Given the description of an element on the screen output the (x, y) to click on. 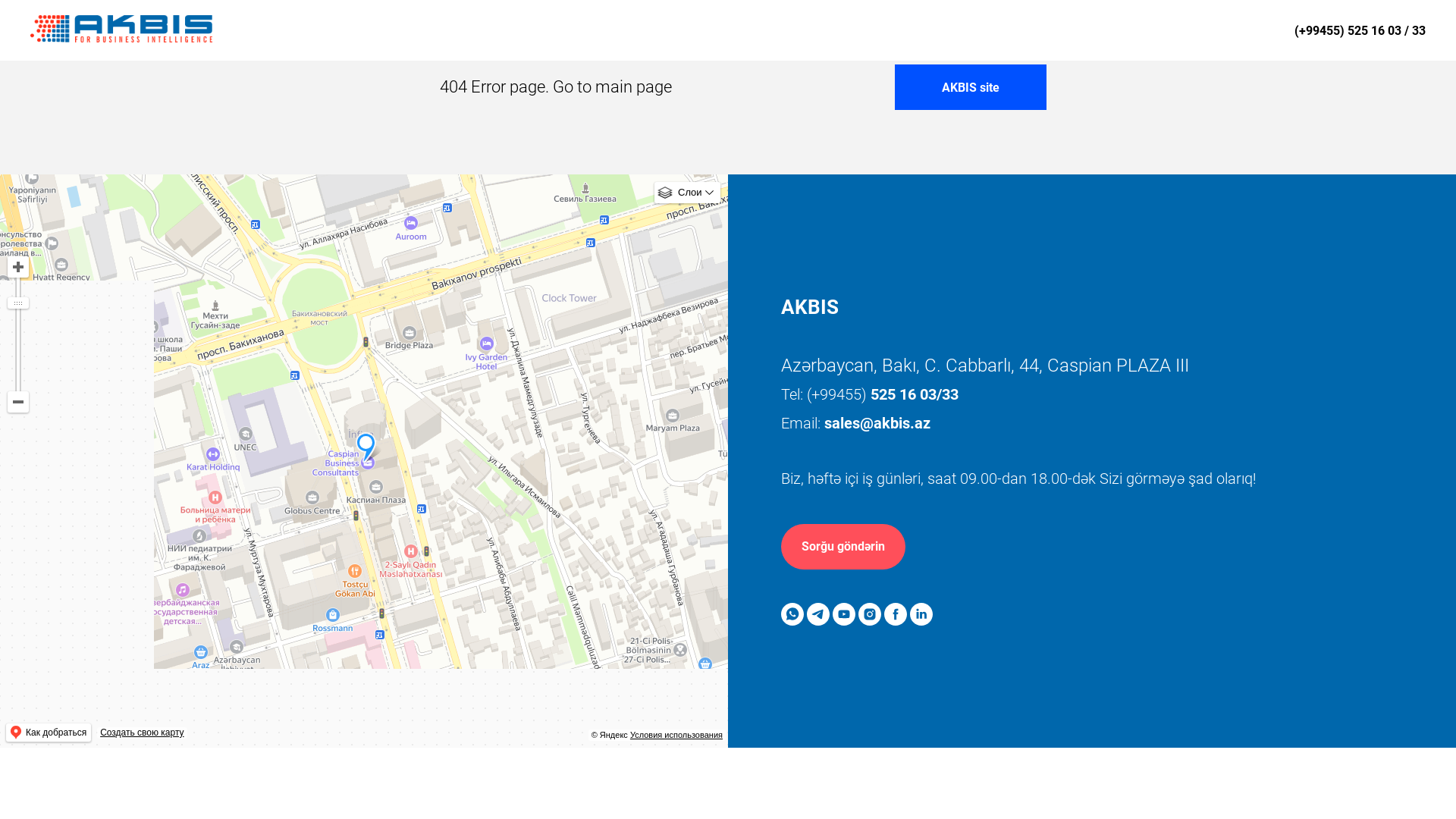
AKBIS site Element type: text (970, 86)
(+99455) 525 16 03 / 33 Element type: text (1359, 29)
